Given the description of an element on the screen output the (x, y) to click on. 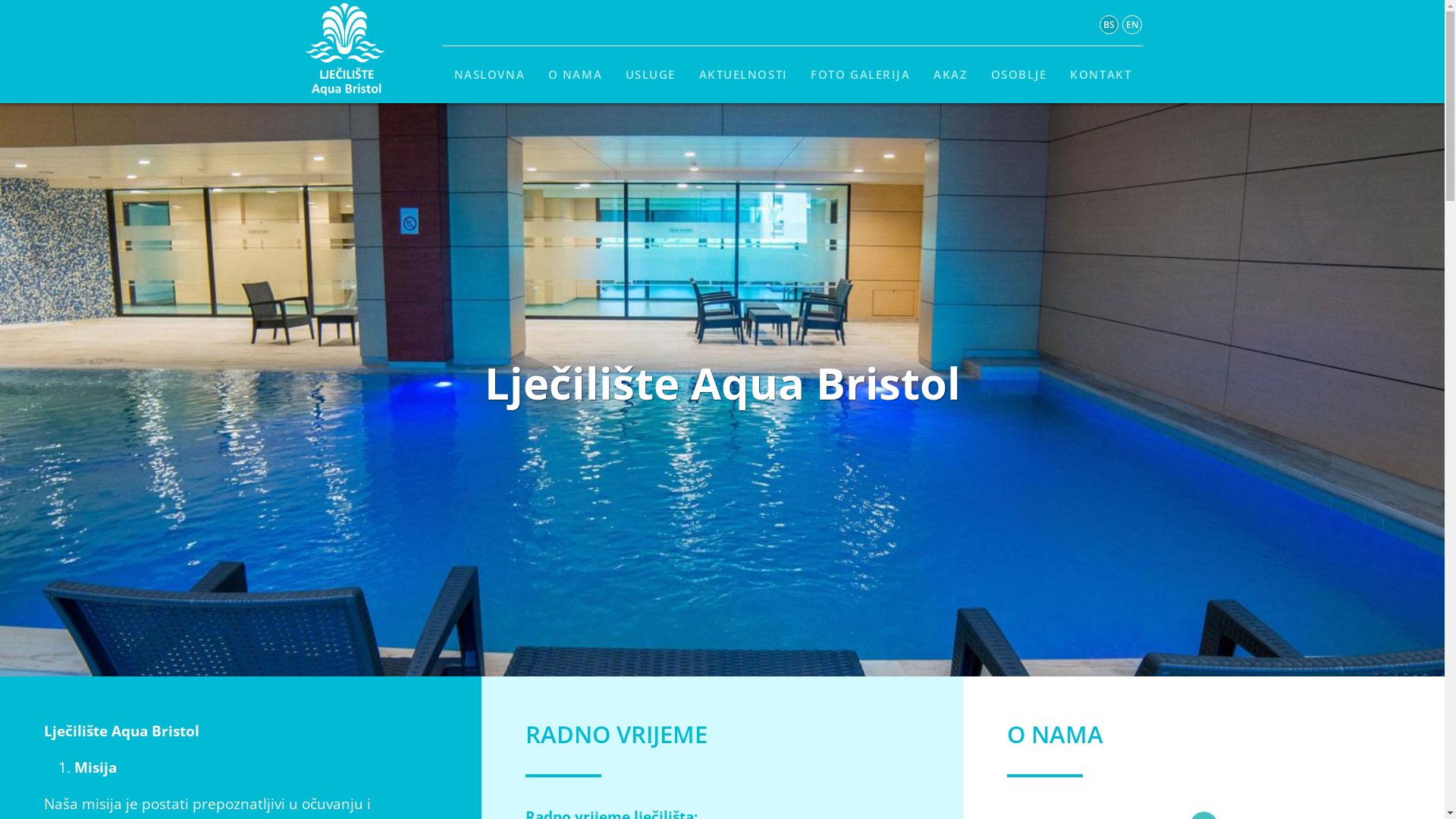
AKTUELNOSTI Element type: text (743, 74)
FOTO GALERIJA Element type: text (860, 74)
EN Element type: text (1132, 24)
KONTAKT Element type: text (1100, 74)
AKAZ Element type: text (950, 74)
USLUGE Element type: text (650, 74)
O NAMA Element type: text (574, 74)
BS Element type: text (1108, 24)
OSOBLJE Element type: text (1018, 74)
NASLOVNA Element type: text (489, 74)
